Given the description of an element on the screen output the (x, y) to click on. 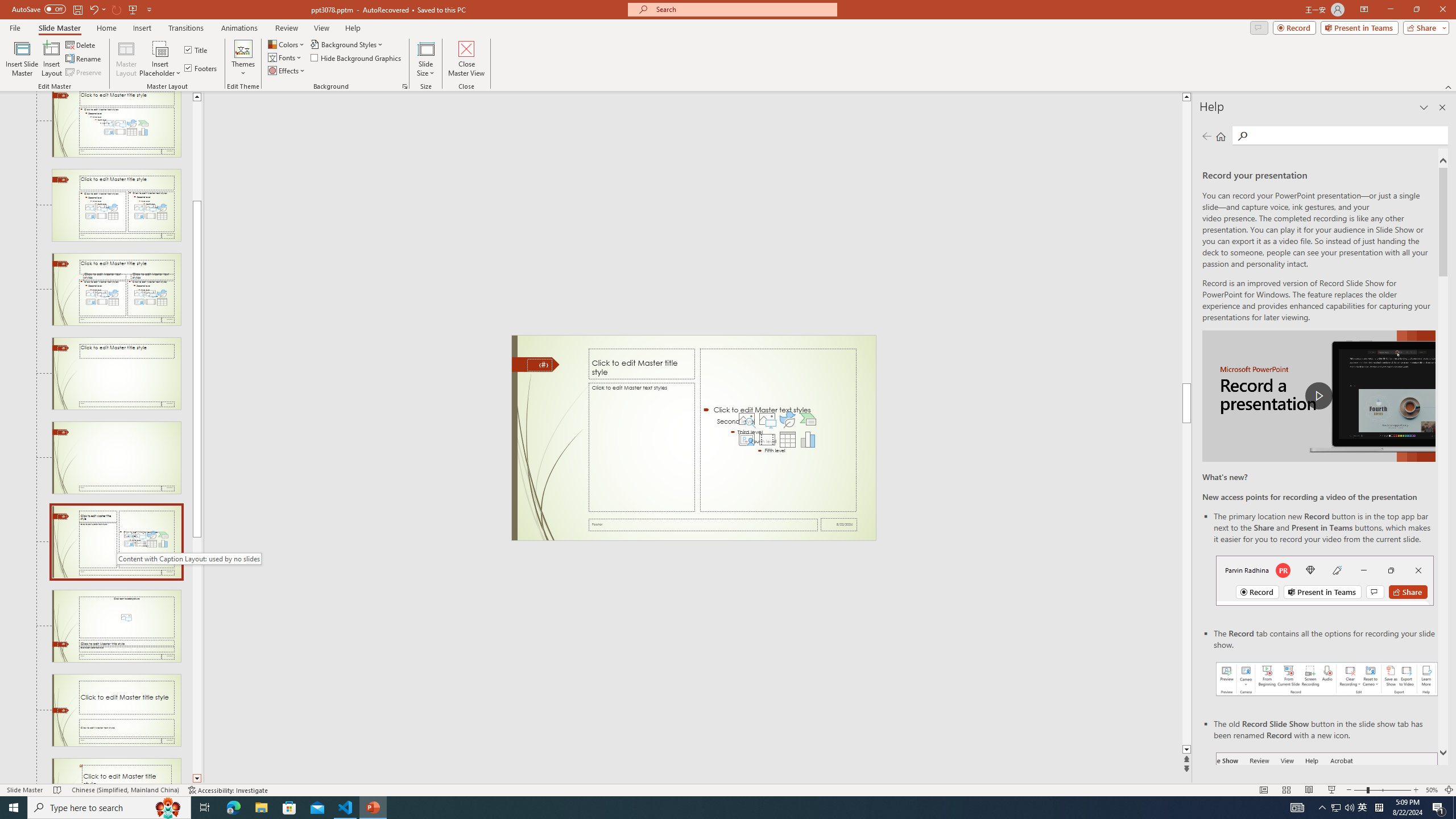
Date (839, 524)
Title TextBox (641, 363)
Effects (287, 69)
Slide Blank Layout: used by no slides (116, 457)
Insert Table (787, 439)
Colors (287, 44)
Record your presentations screenshot one (1326, 678)
Rename (84, 58)
